Given the description of an element on the screen output the (x, y) to click on. 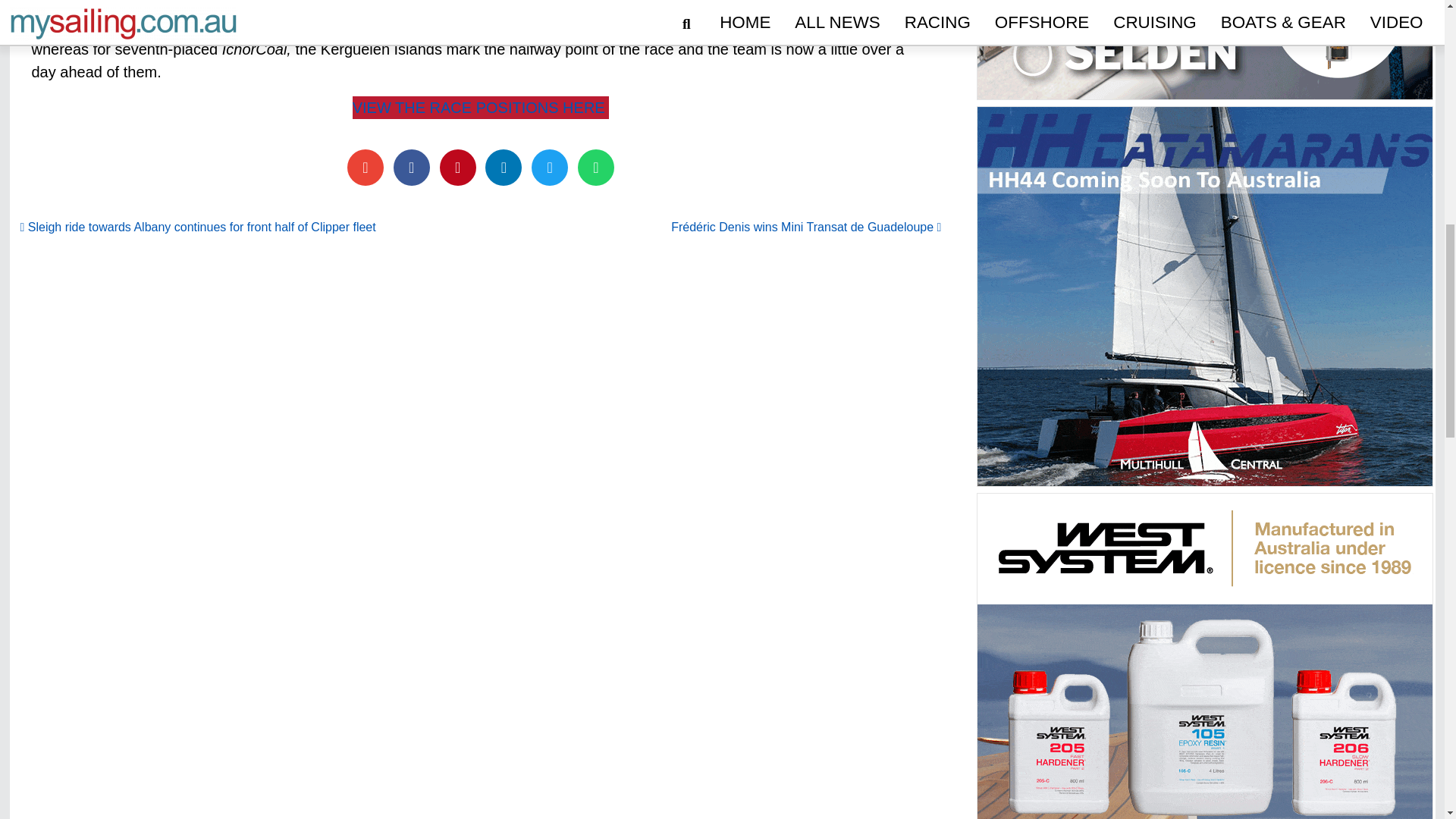
2024-25 NSW Cherub State Champs (472, 729)
VIEW THE RACE POSITIONS HERE  (481, 107)
Action on water and ashore at Airlie Beach Race Week (1100, 729)
Record Fleet at the M32 Europeans (787, 729)
Share by Email (365, 167)
